Given the description of an element on the screen output the (x, y) to click on. 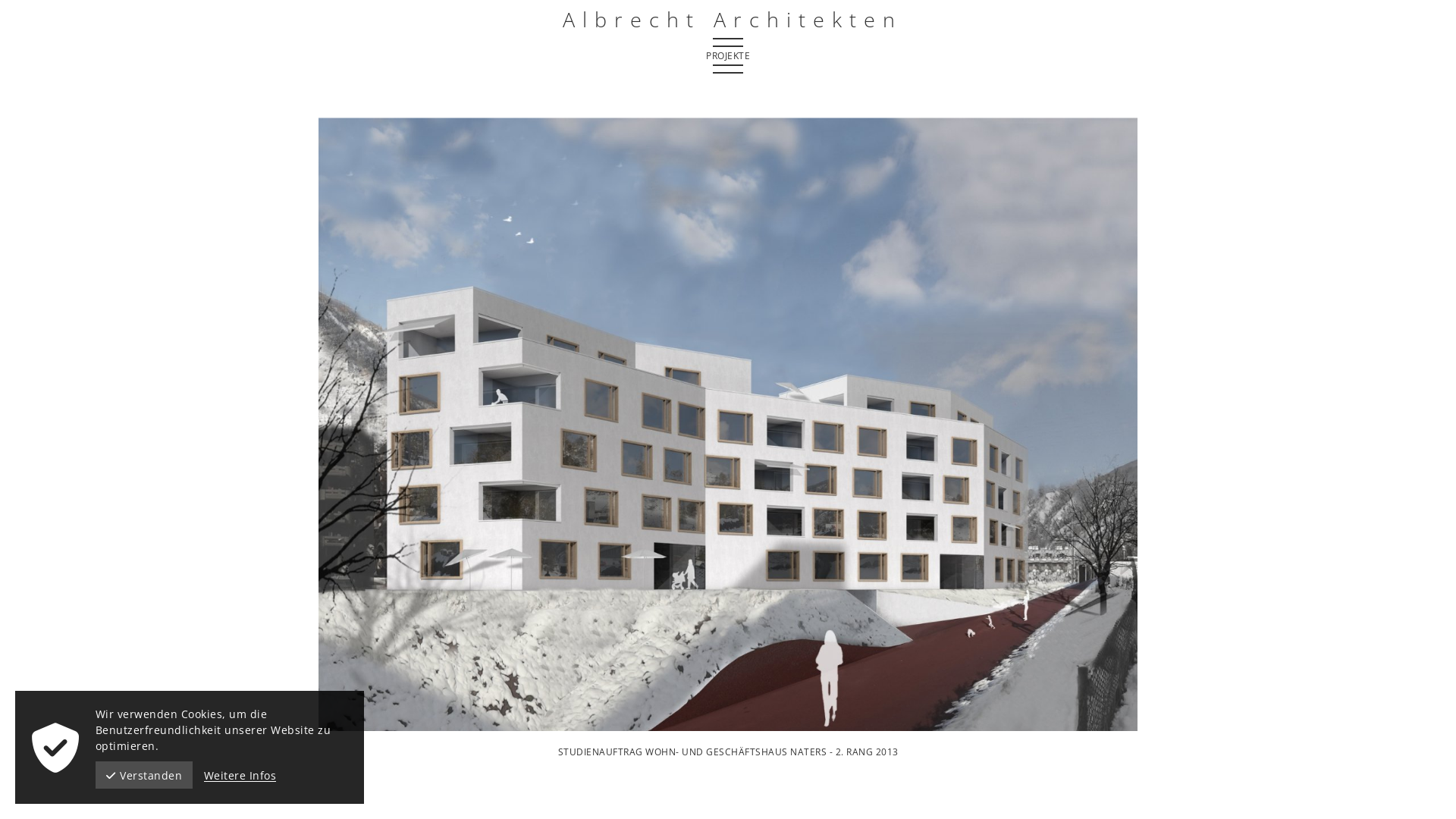
PROJEKTE Element type: text (727, 55)
Weitere Infos Element type: text (239, 775)
Albrecht Architekten Element type: text (727, 19)
Verstanden Element type: text (144, 774)
